Given the description of an element on the screen output the (x, y) to click on. 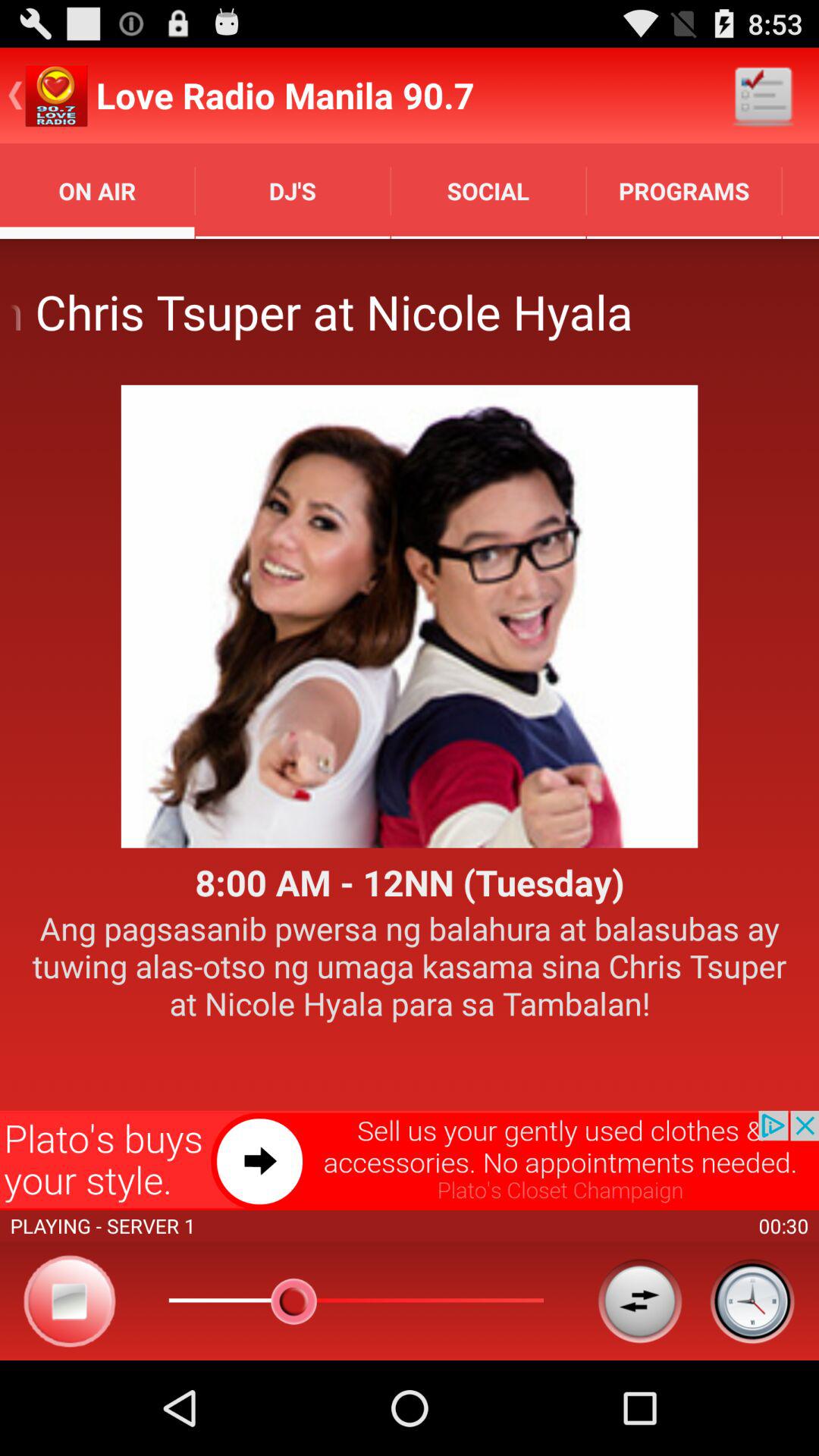
click previous and next button (639, 1300)
